Given the description of an element on the screen output the (x, y) to click on. 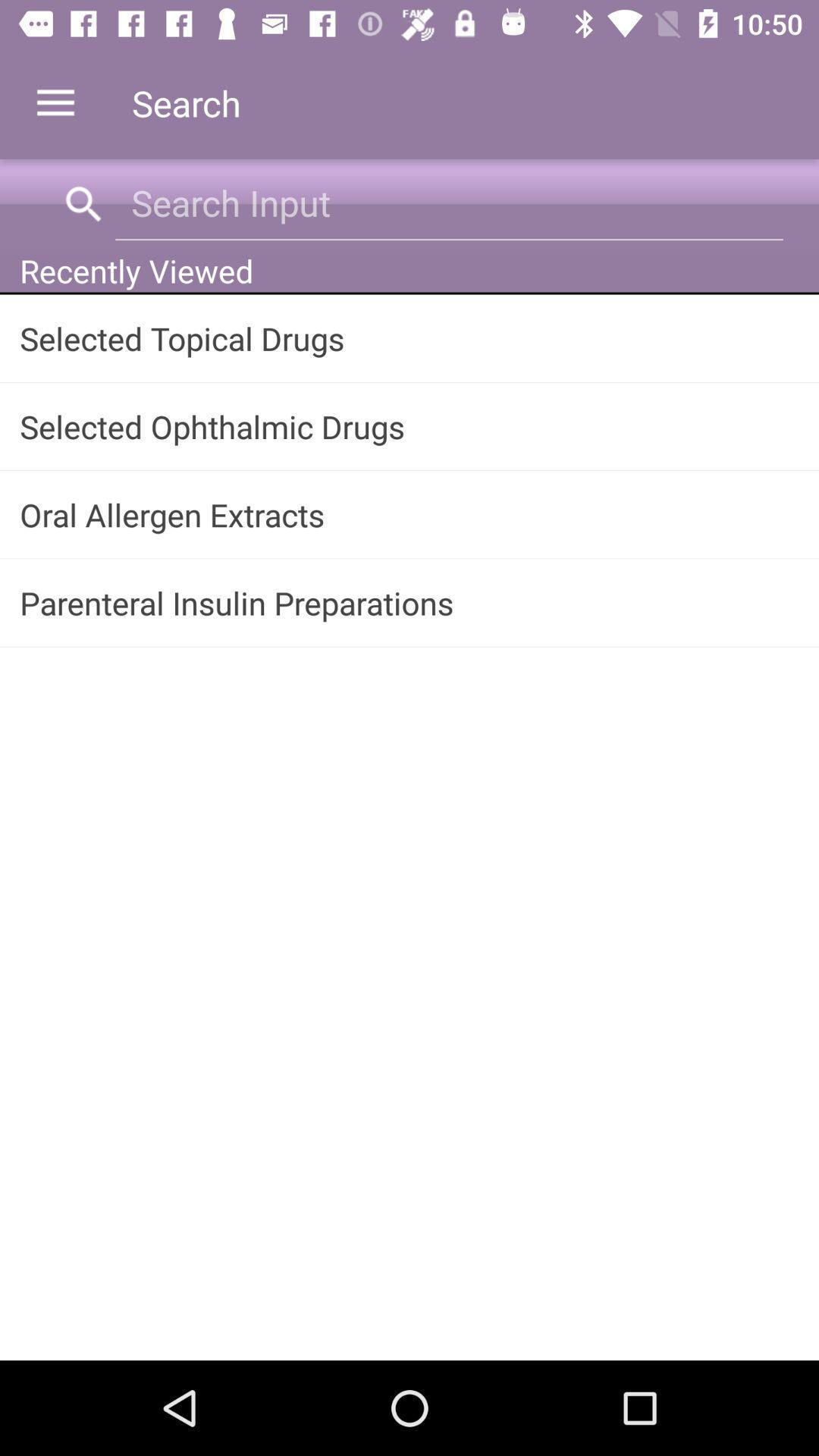
press parenteral insulin preparations icon (409, 602)
